Given the description of an element on the screen output the (x, y) to click on. 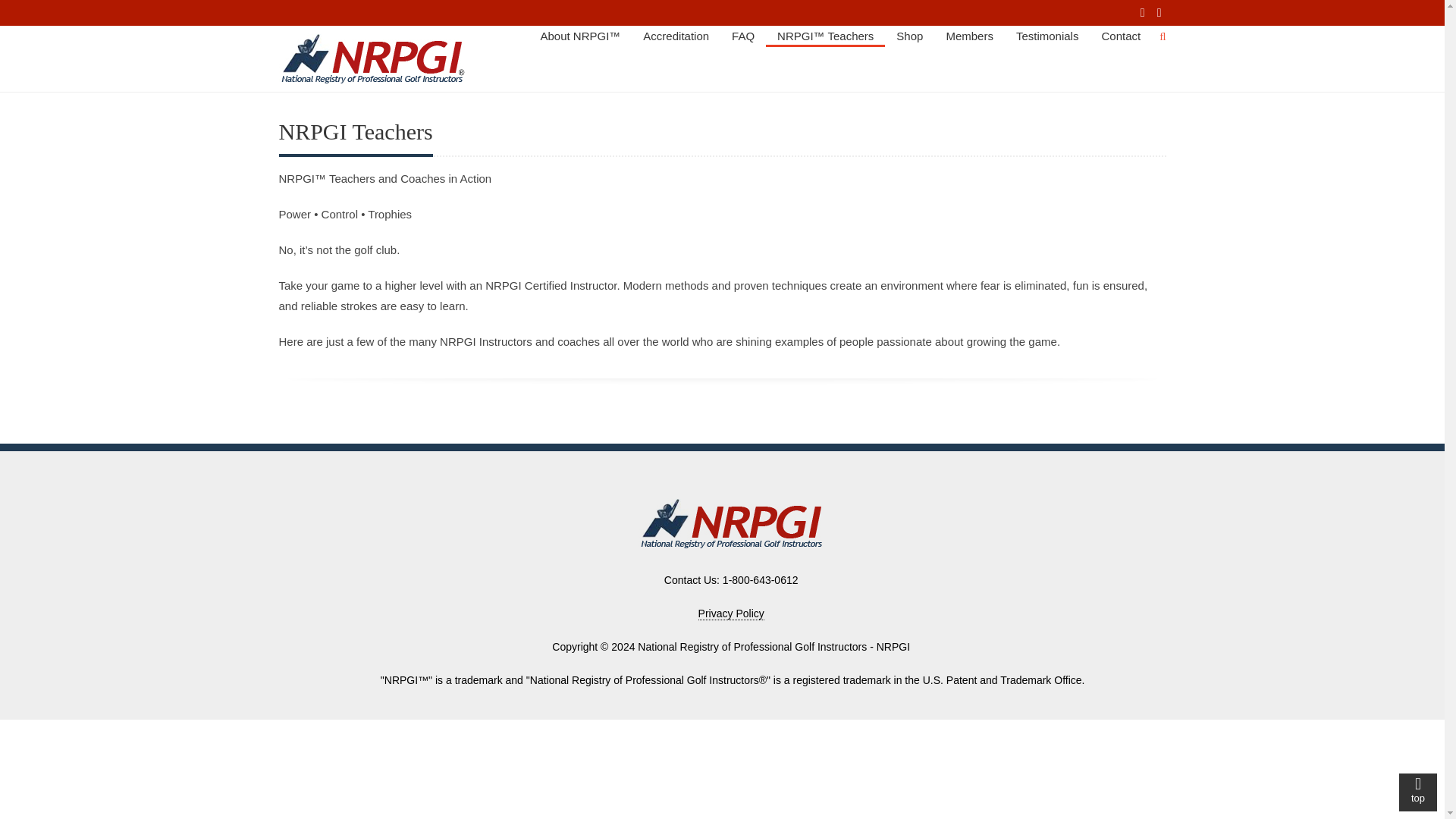
Accreditation (675, 35)
Testimonials (1047, 35)
Shop (909, 35)
Members (969, 35)
Contact (1120, 35)
FAQ (742, 35)
